Given the description of an element on the screen output the (x, y) to click on. 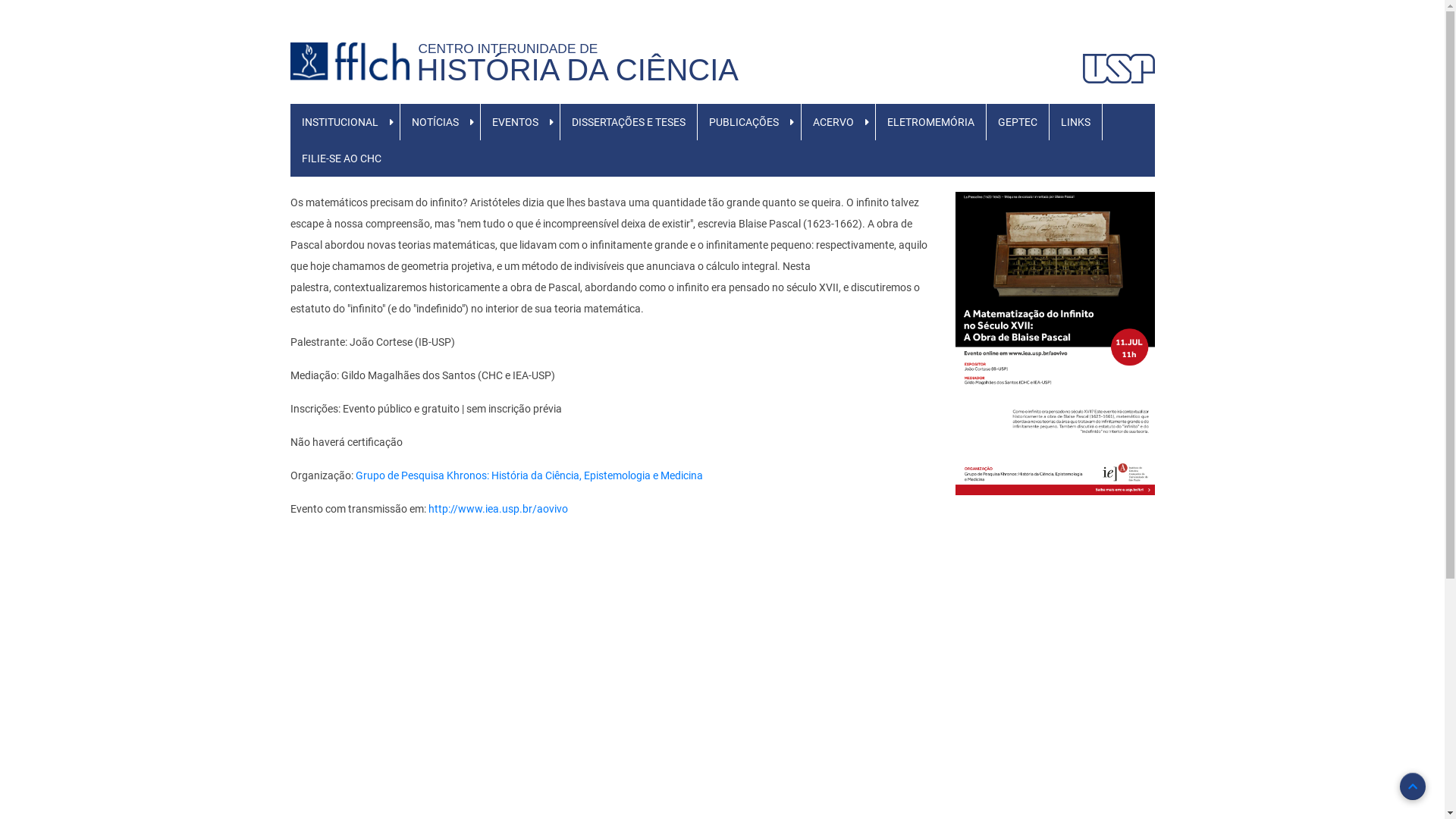
EVENTOS Element type: text (514, 121)
ACERVO Element type: text (832, 121)
http://www.iea.usp.br/aovivo Element type: text (497, 508)
CENTRO INTERUNIDADE DE   Element type: text (511, 48)
LINKS Element type: text (1075, 121)
Back to Top Element type: hover (1412, 786)
GEPTEC Element type: text (1017, 121)
INSTITUCIONAL Element type: text (339, 121)
FILIE-SE AO CHC Element type: text (340, 158)
